Given the description of an element on the screen output the (x, y) to click on. 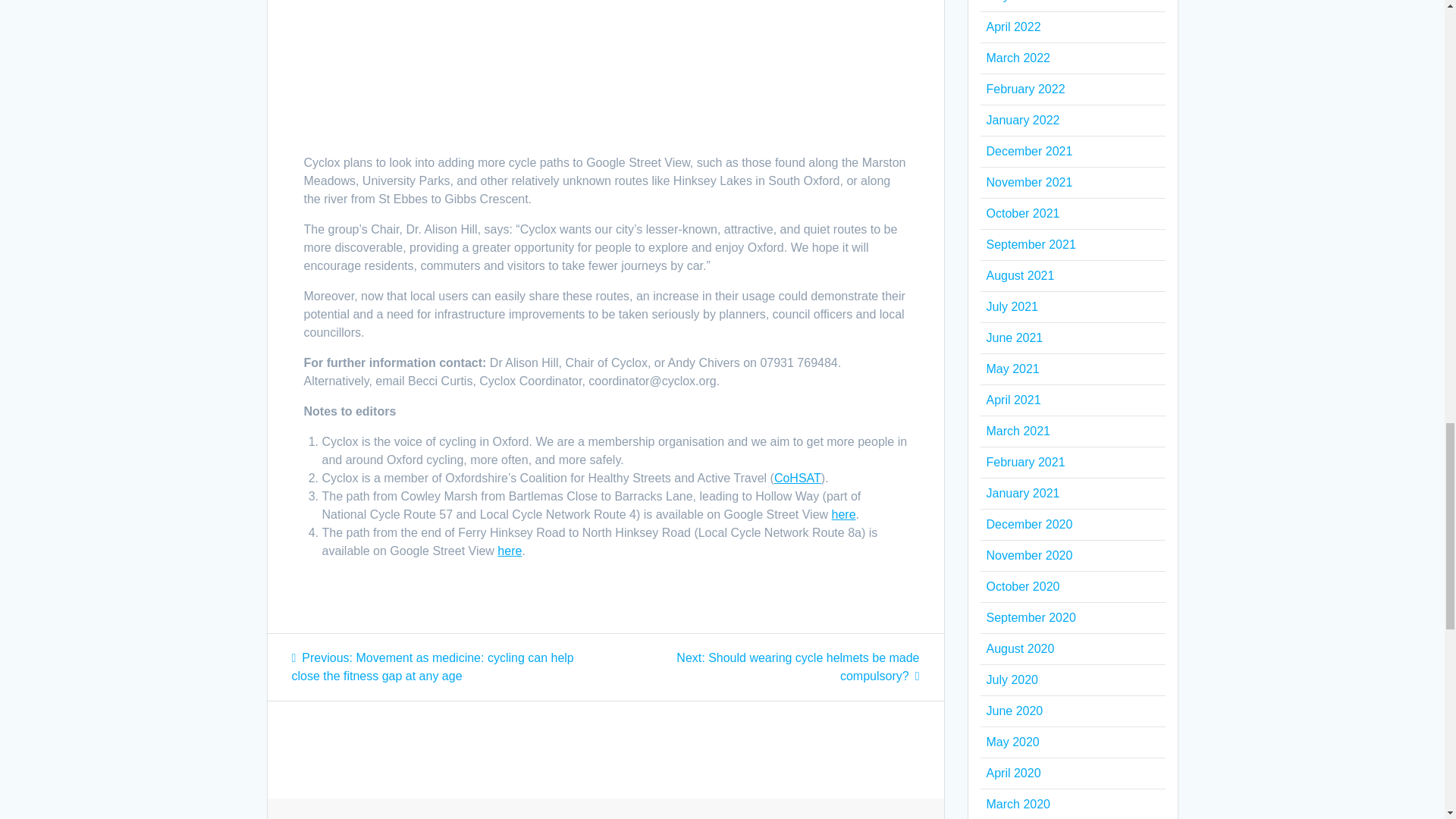
here (843, 513)
here (509, 550)
CoHSAT (797, 477)
